Given the description of an element on the screen output the (x, y) to click on. 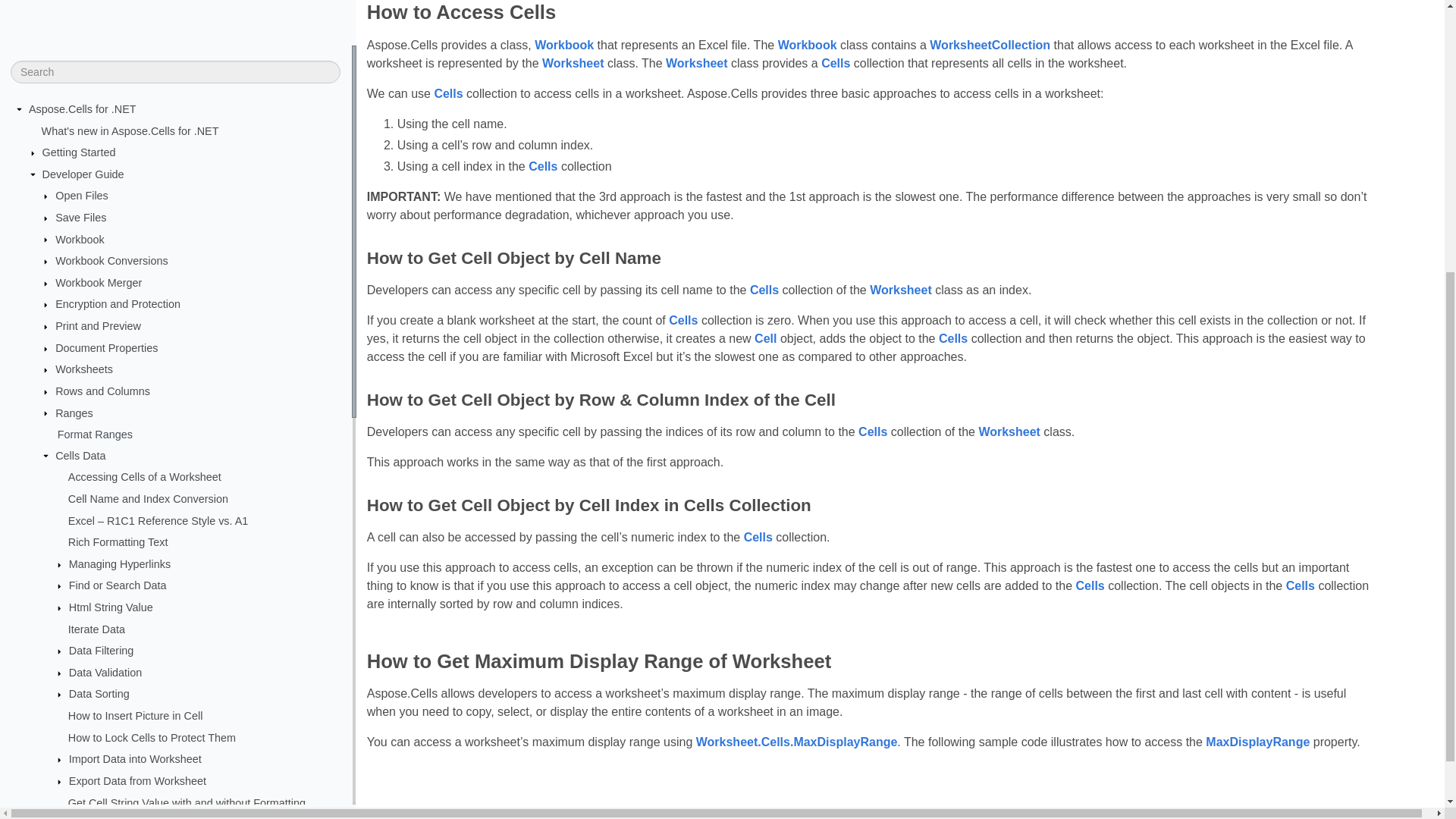
Format Ranges (202, 8)
